Given the description of an element on the screen output the (x, y) to click on. 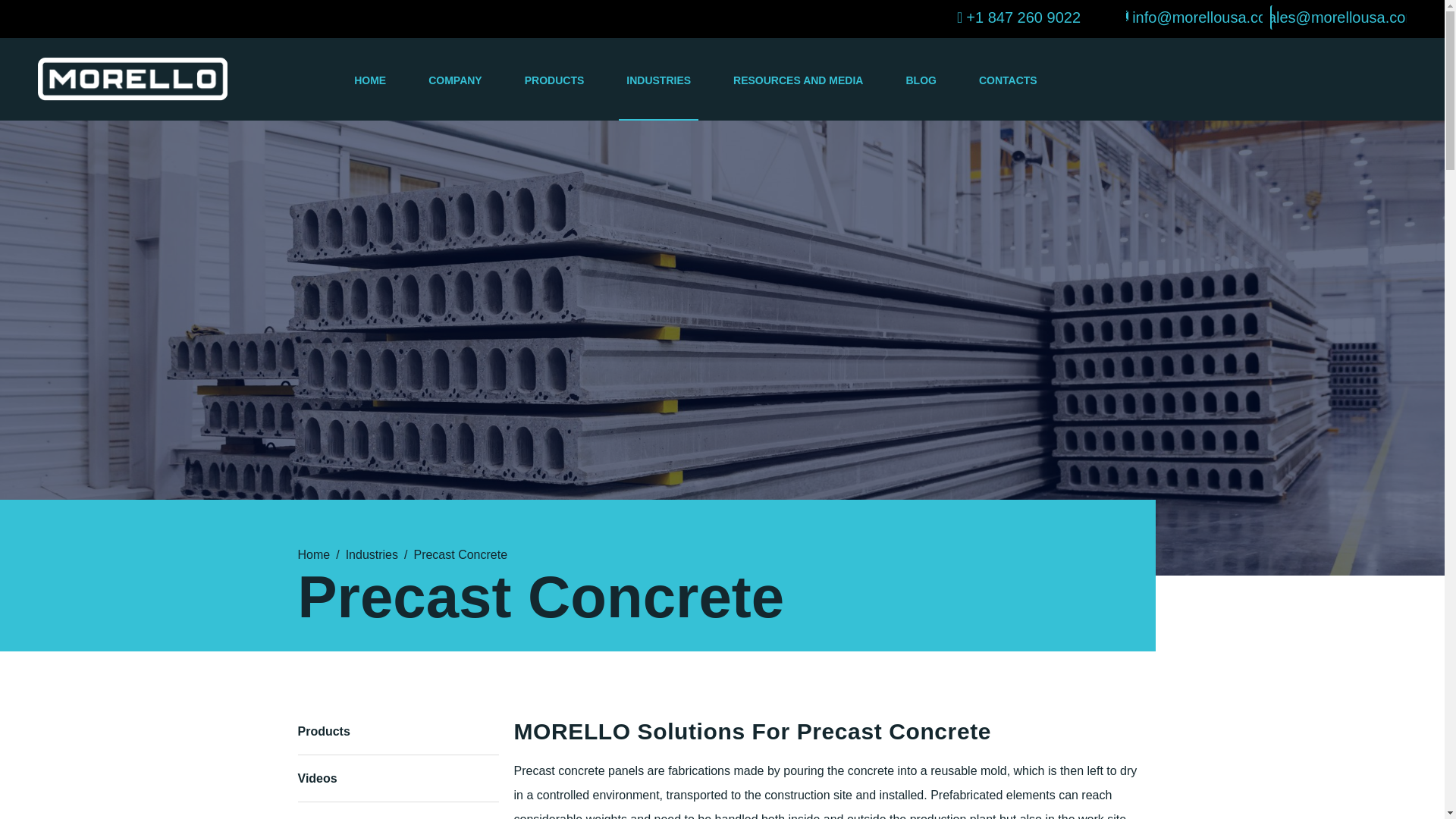
COMPANY (454, 93)
HOME (369, 93)
PRODUCTS (554, 93)
INDUSTRIES (658, 93)
